Given the description of an element on the screen output the (x, y) to click on. 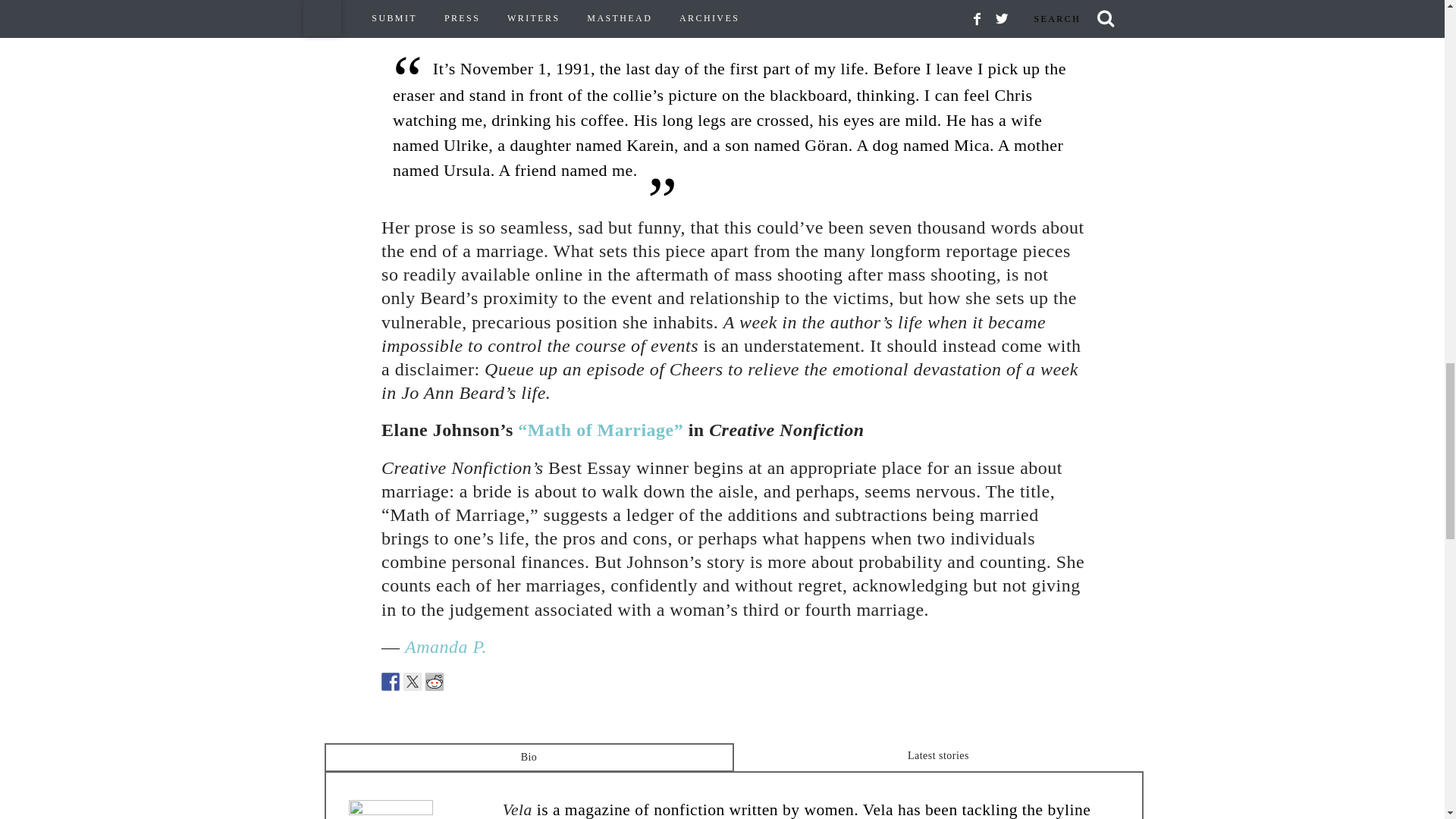
Share on Facebook (389, 681)
Share on Twitter (412, 681)
Share on Reddit (434, 681)
